Given the description of an element on the screen output the (x, y) to click on. 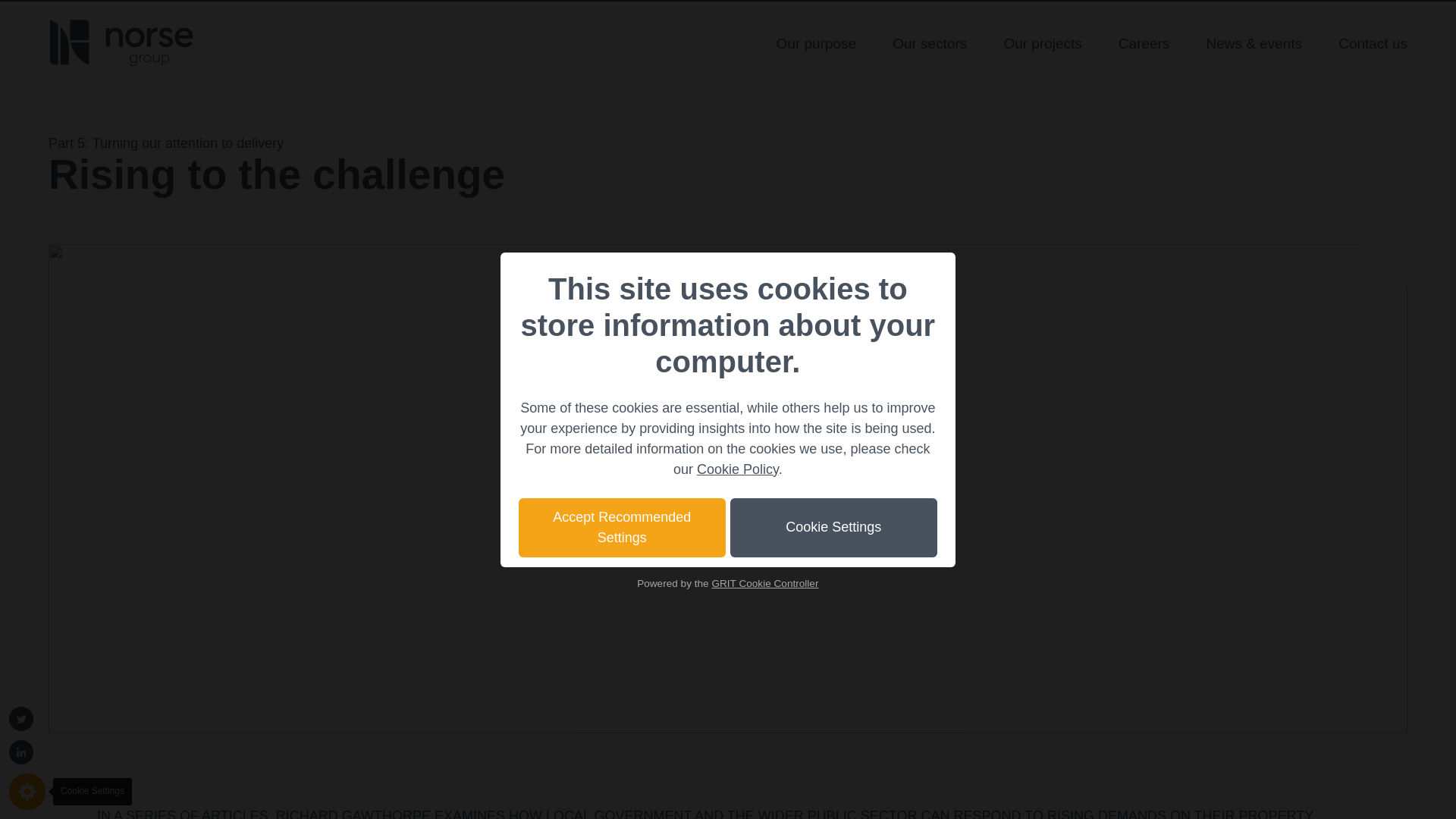
Our projects (1042, 43)
Contact us (1372, 43)
Careers (1144, 43)
Our sectors (929, 43)
Our purpose (816, 43)
